Given the description of an element on the screen output the (x, y) to click on. 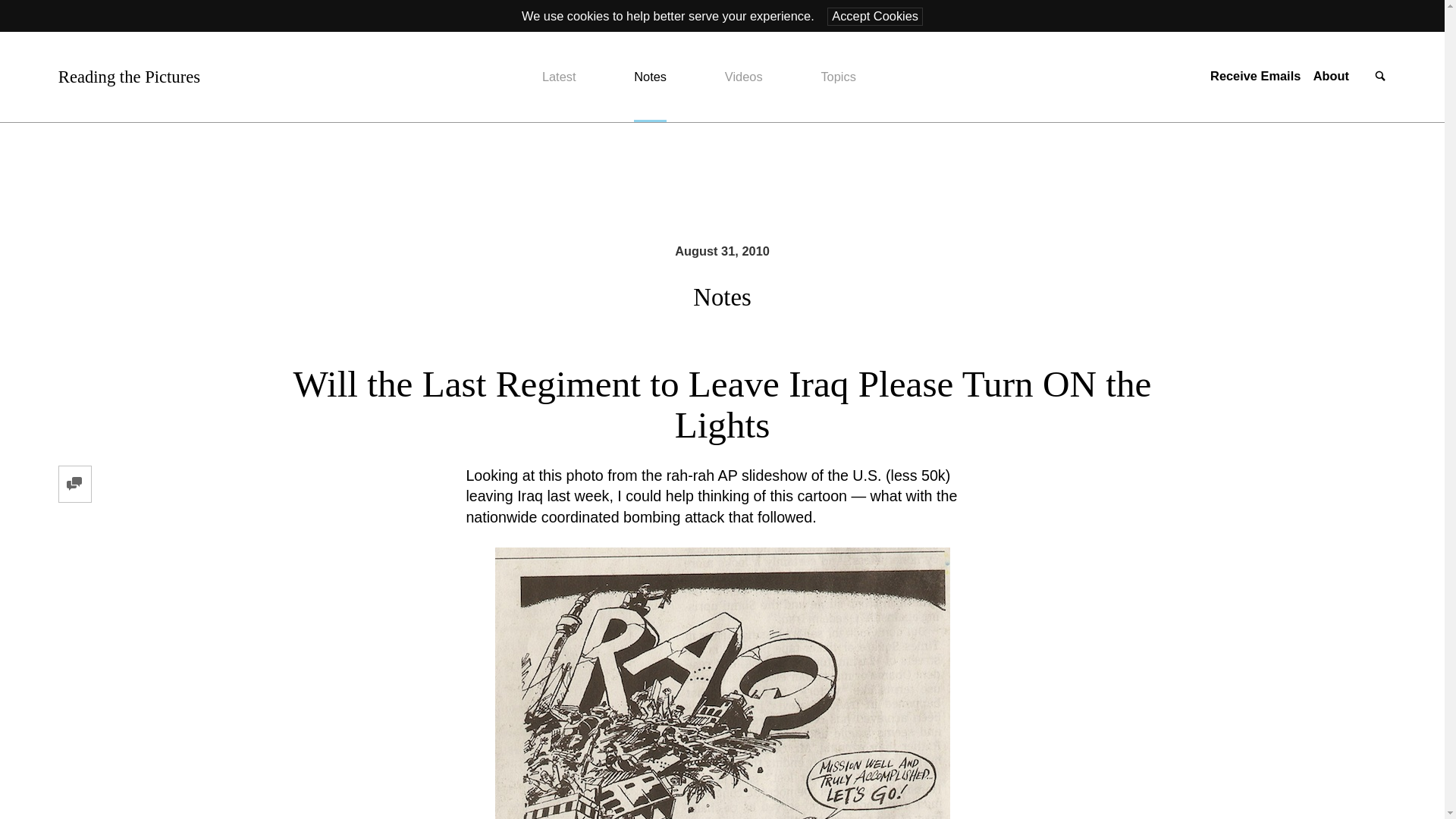
Receive Emails (1254, 75)
Newsletter Signup (1254, 75)
Reading the Pictures (129, 76)
Reading the Pictures (129, 76)
About (1331, 75)
Accept Cookies (875, 16)
About (1331, 75)
Schrank (722, 683)
search (1380, 78)
